Given the description of an element on the screen output the (x, y) to click on. 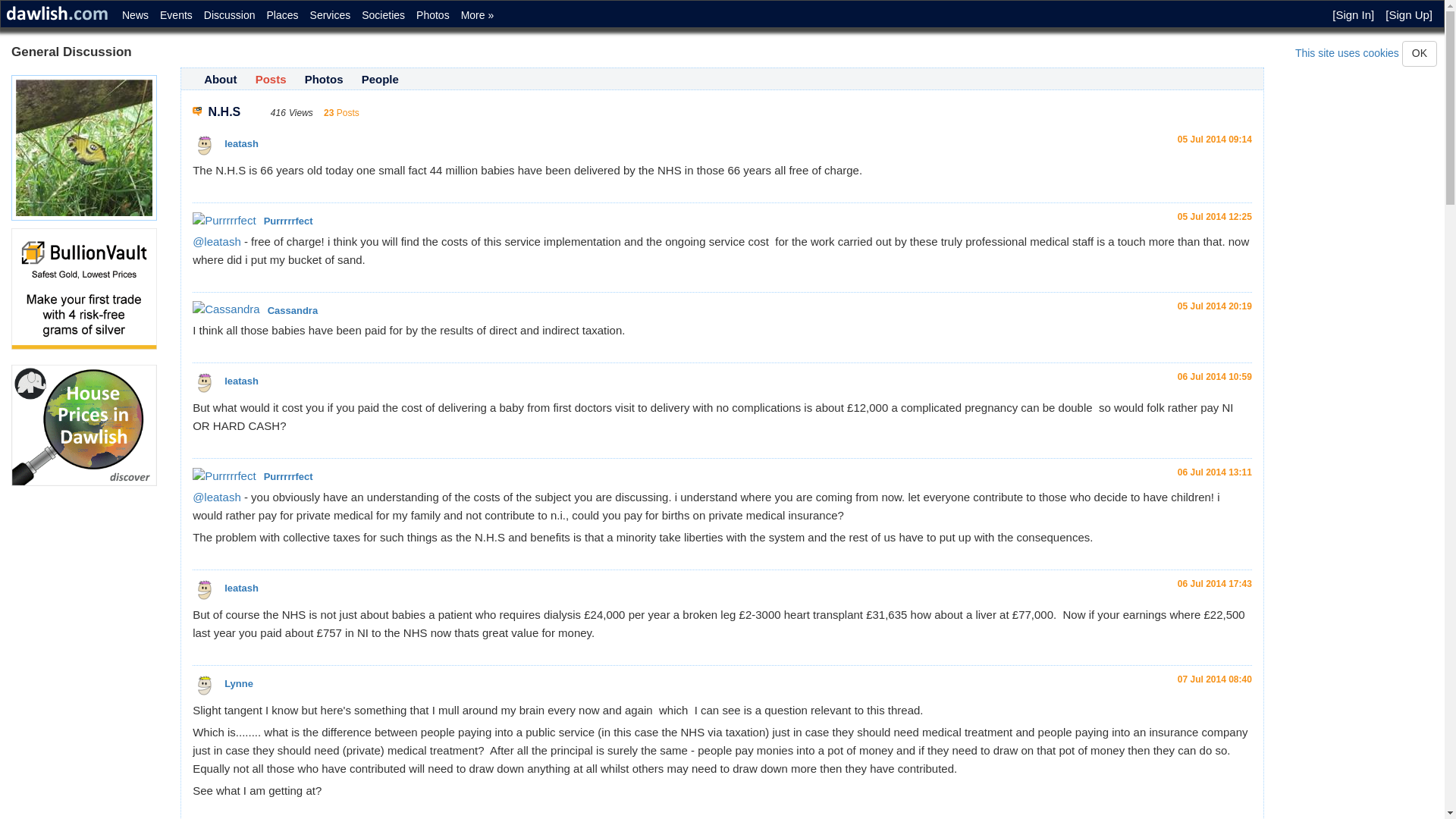
leatash (204, 589)
About (219, 78)
Services (328, 11)
Photos (430, 11)
BullionVault (84, 288)
Lynne (204, 685)
Purrrrrfect (224, 475)
People (379, 78)
Bigly (84, 425)
Societies (381, 11)
